Given the description of an element on the screen output the (x, y) to click on. 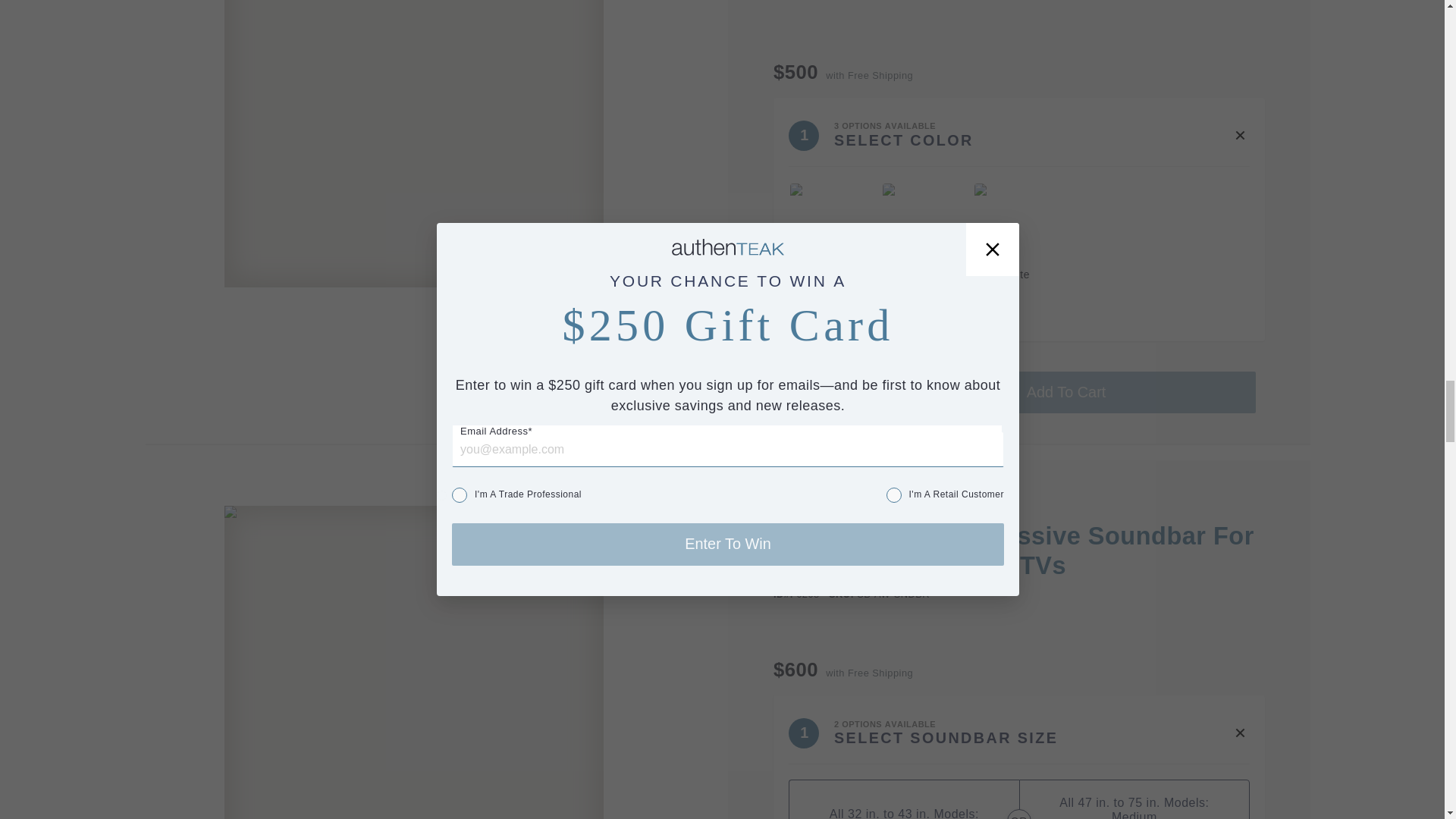
1 (817, 392)
